Given the description of an element on the screen output the (x, y) to click on. 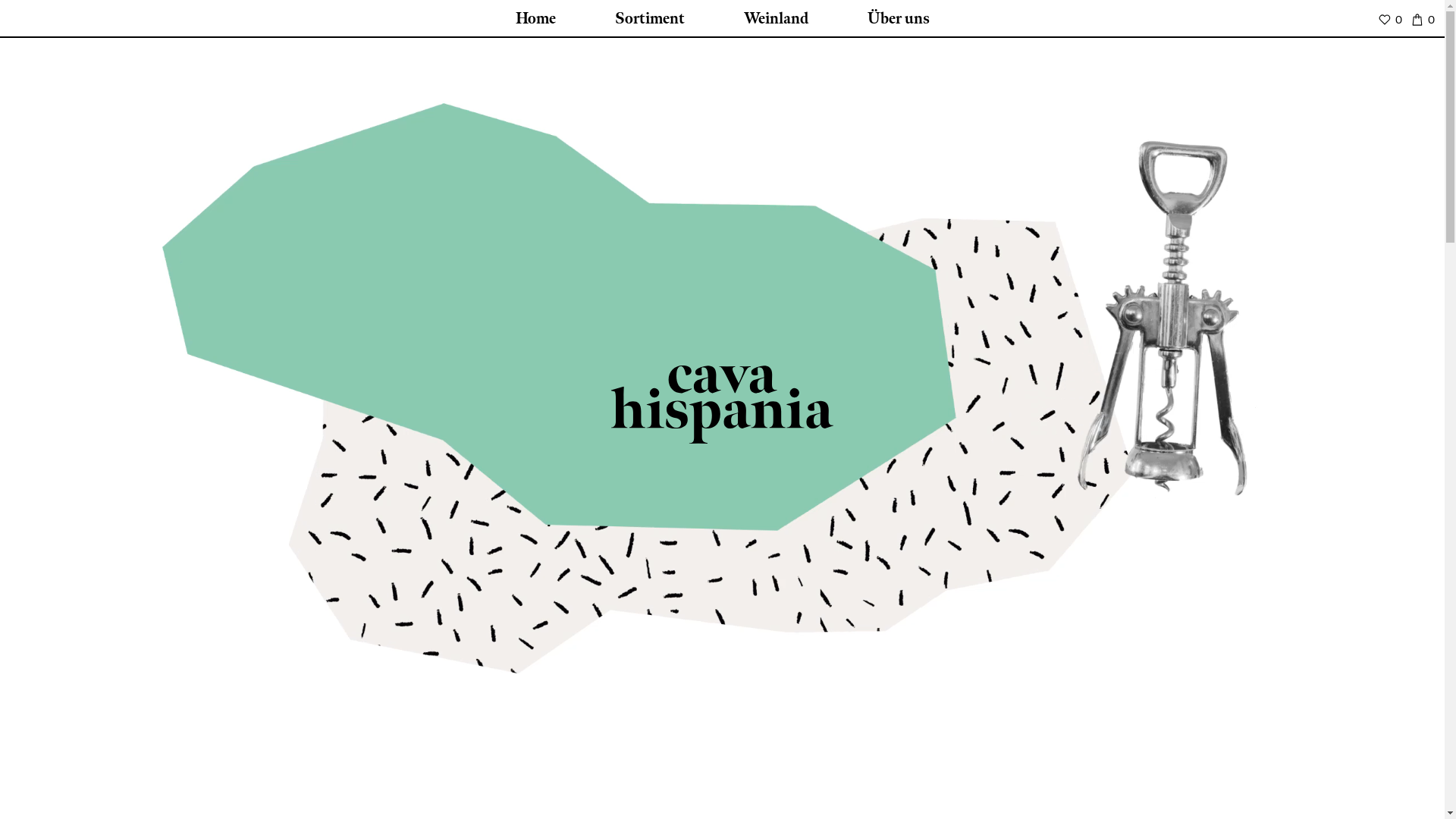
Sortiment Element type: text (649, 18)
Home Element type: text (535, 18)
Weinland Element type: text (775, 18)
